Given the description of an element on the screen output the (x, y) to click on. 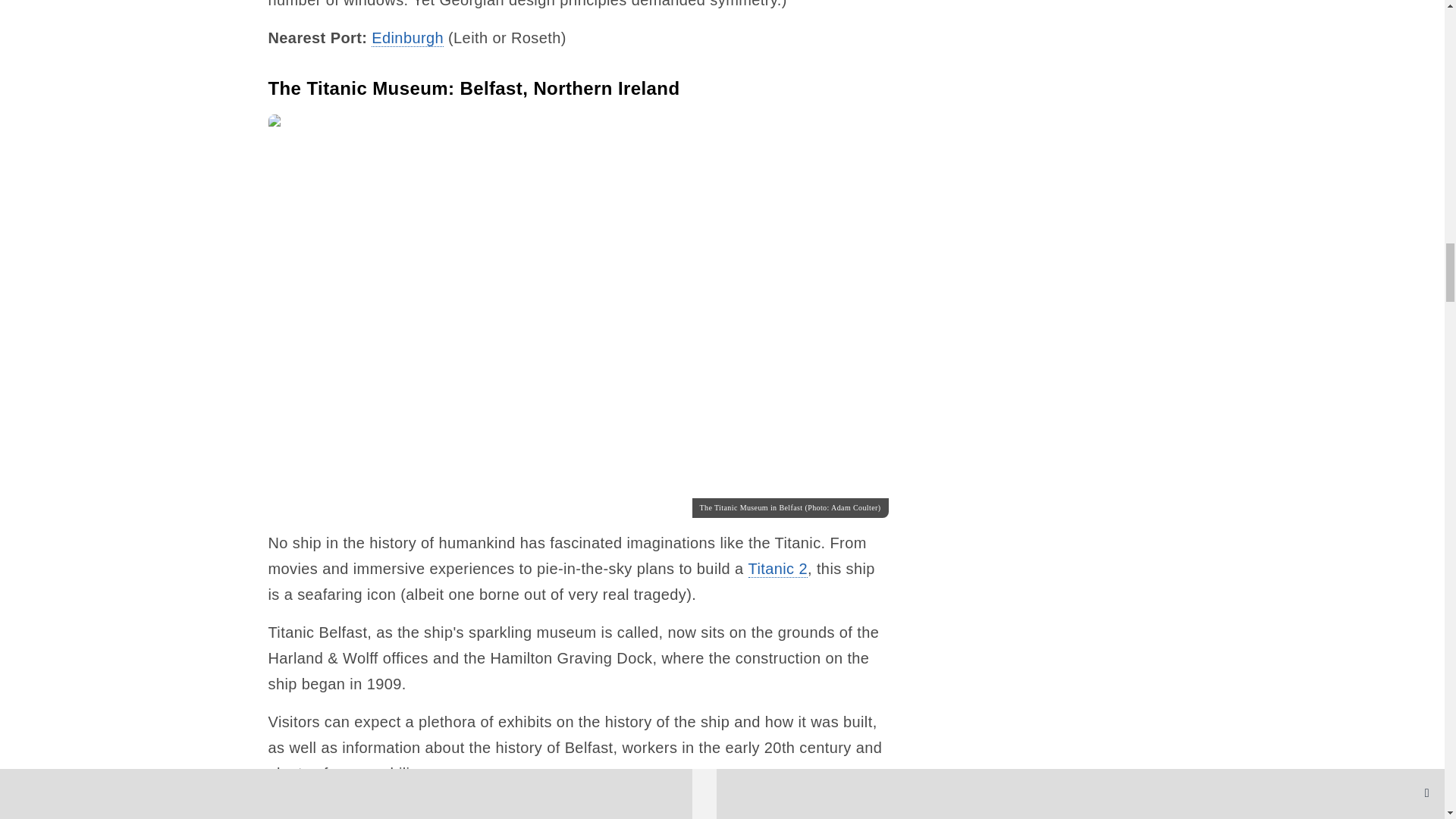
our guide to visiting the Titanic museum in Belfast (559, 811)
Titanic 2 (778, 569)
Edinburgh (407, 37)
